Given the description of an element on the screen output the (x, y) to click on. 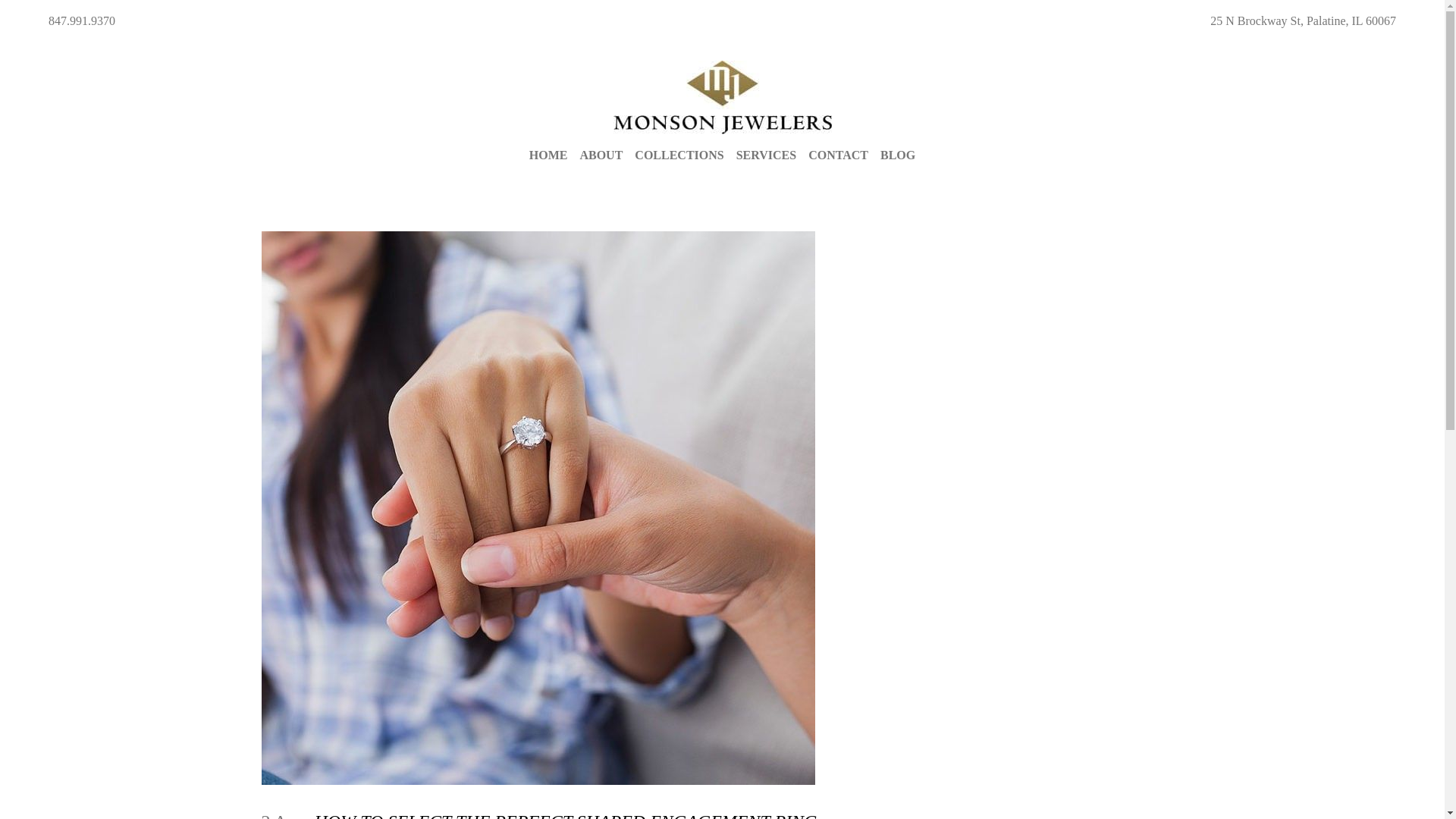
CONTACT (837, 155)
COLLECTIONS (678, 155)
SERVICES (766, 155)
847.991.9370 (81, 20)
BLOG (897, 155)
HOME (548, 155)
ABOUT (601, 155)
25 N Brockway St, Palatine, IL 60067 (1302, 20)
